Given the description of an element on the screen output the (x, y) to click on. 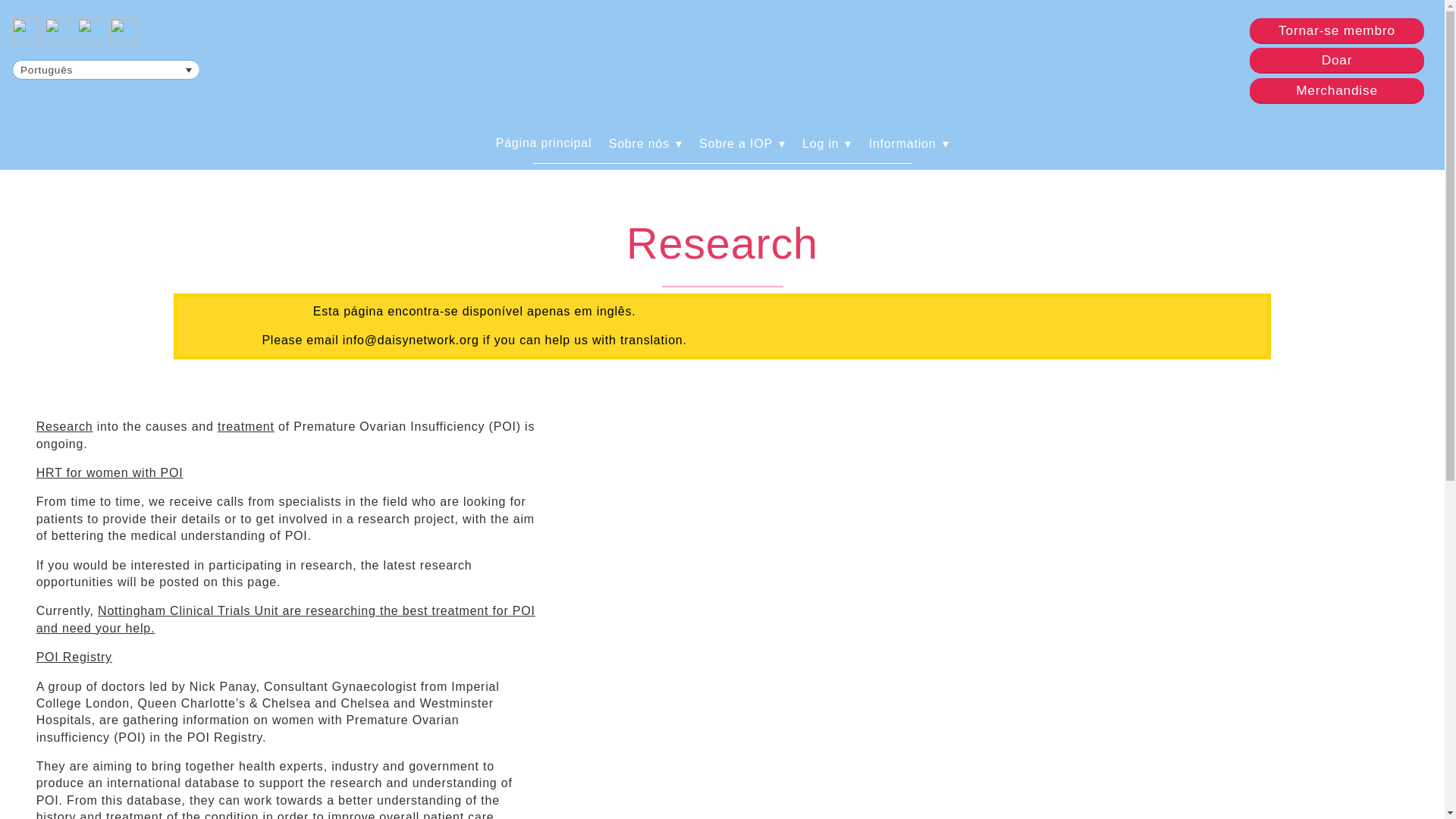
Sobre a IOP (742, 143)
Log in (826, 143)
Merchandise (1336, 89)
Doar (1337, 59)
Tornar-se membro (1336, 29)
